Given the description of an element on the screen output the (x, y) to click on. 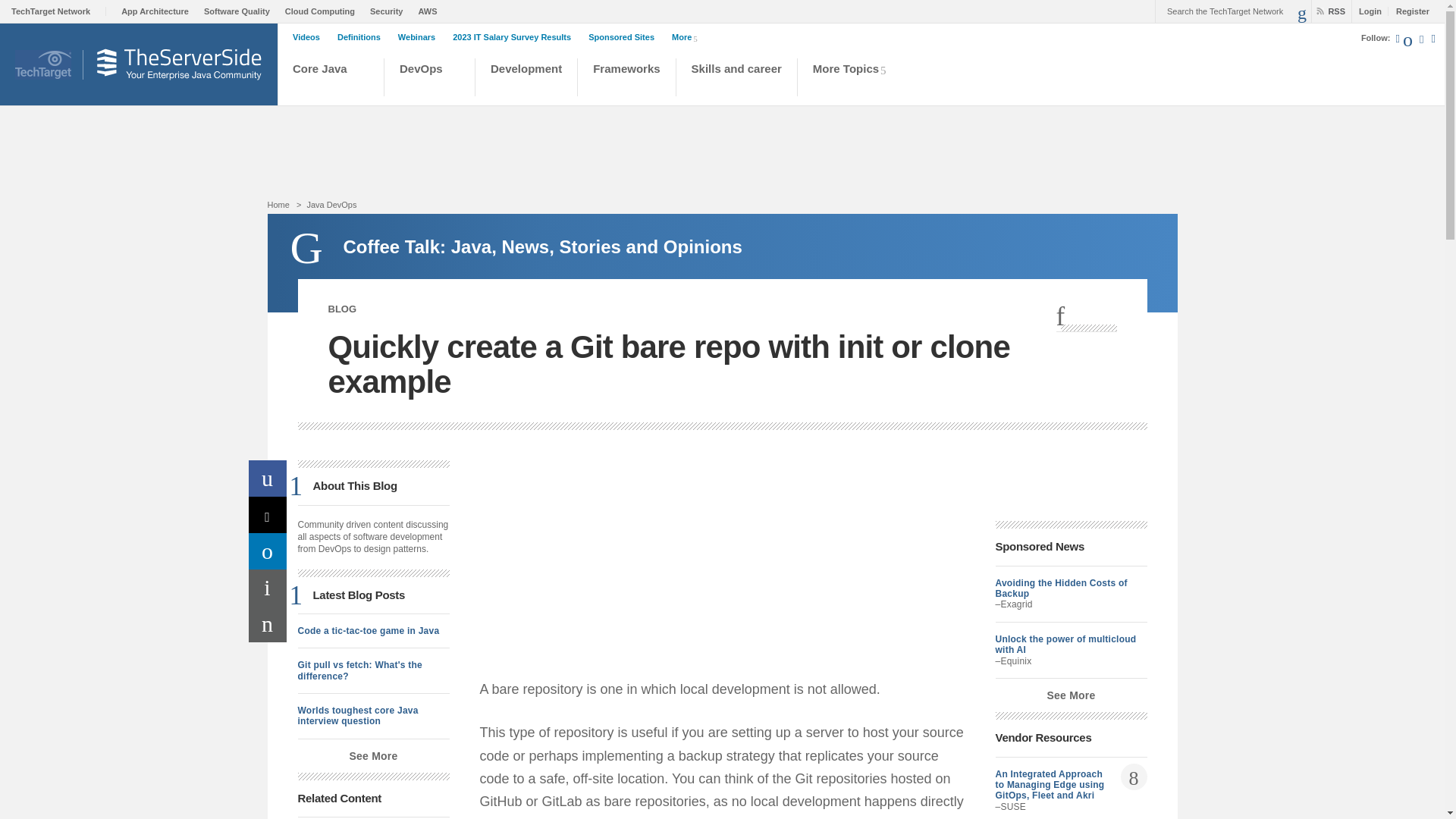
Videos (309, 36)
Frameworks (625, 79)
TechTarget Network (58, 10)
Cloud Computing (323, 10)
AWS (430, 10)
How to create a bare git repo with init and update example (669, 563)
Sponsored Sites (625, 36)
More (687, 36)
Security (389, 10)
2023 IT Salary Survey Results (515, 36)
